Given the description of an element on the screen output the (x, y) to click on. 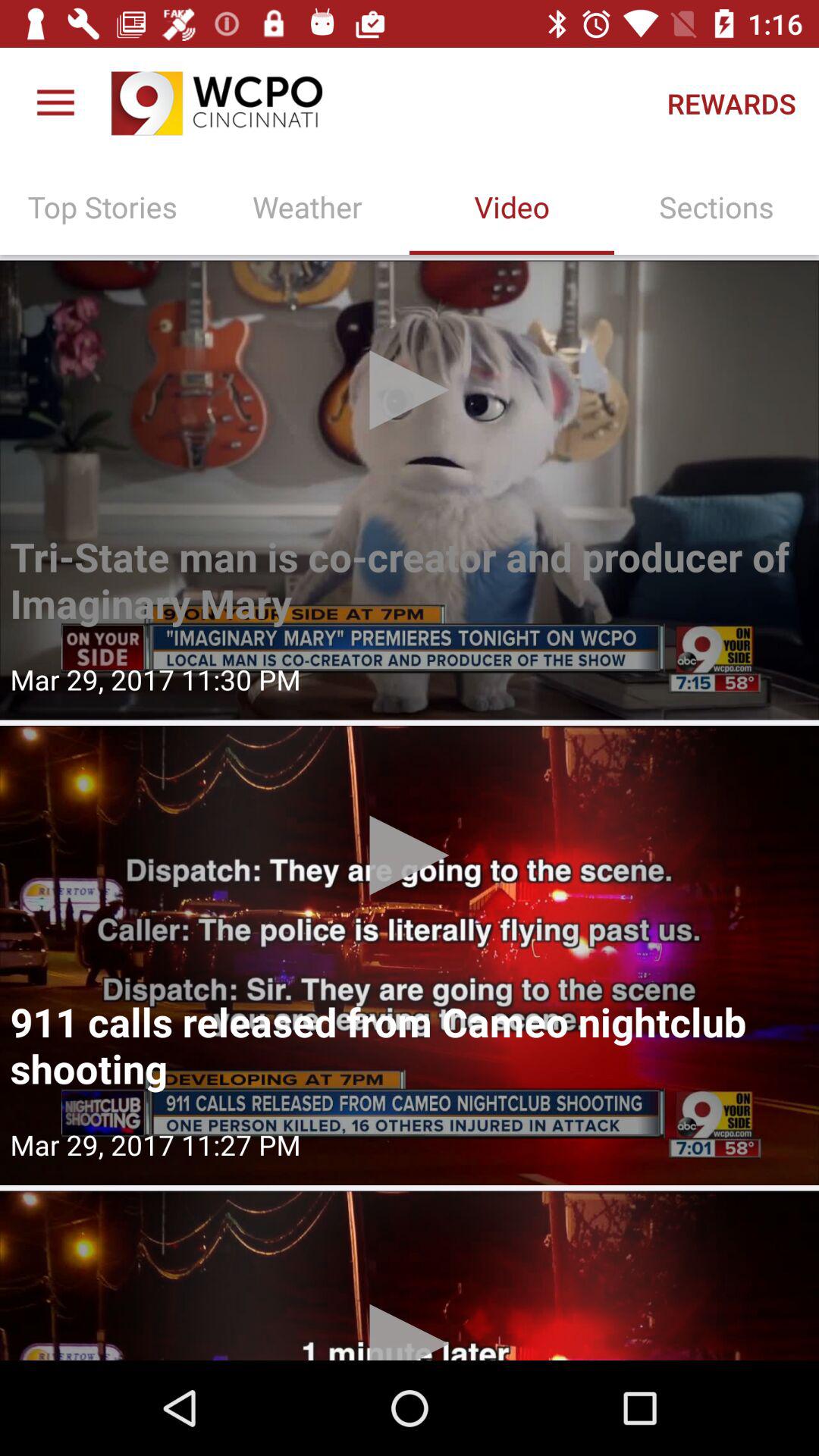
select video (409, 490)
